Given the description of an element on the screen output the (x, y) to click on. 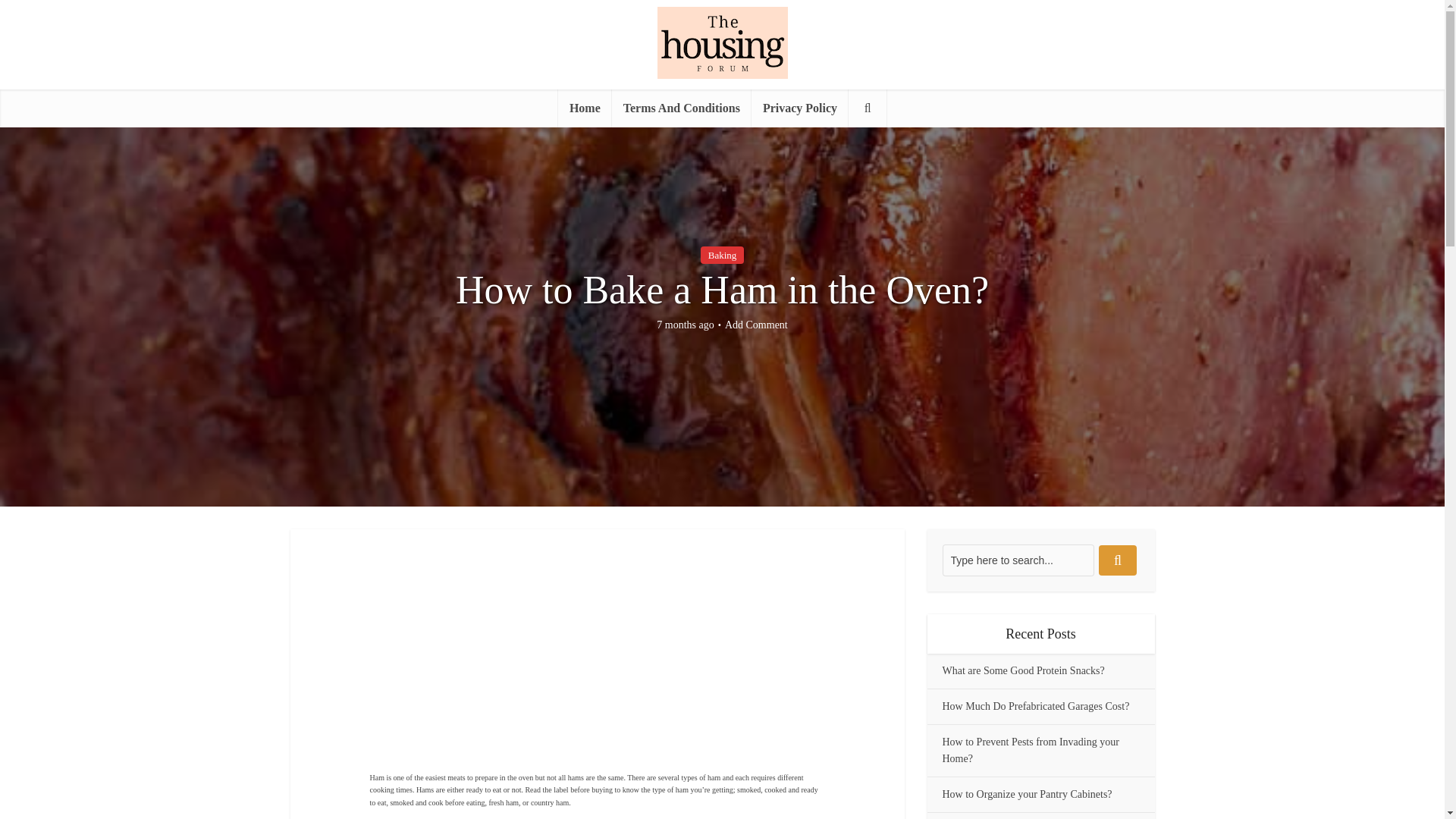
Terms And Conditions (681, 108)
Home (584, 108)
Baking (722, 254)
Type here to search... (1017, 560)
Type here to search... (1017, 560)
Advertisement (657, 662)
Privacy Policy (799, 108)
Add Comment (756, 325)
